Given the description of an element on the screen output the (x, y) to click on. 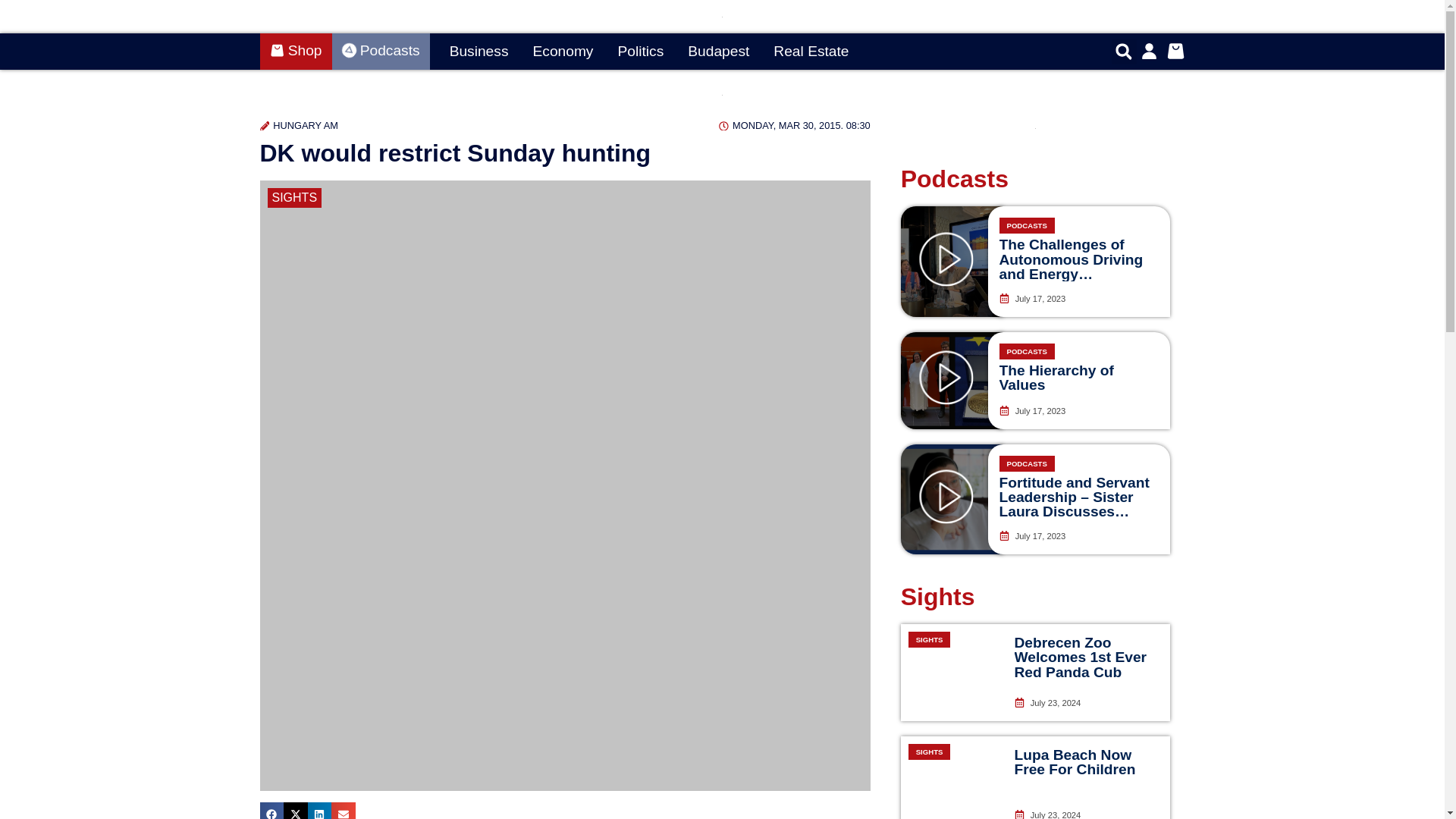
HUNGARY AM (298, 124)
Real Estate (810, 51)
Debrecen Zoo Welcomes 1st Ever Red Panda Cub (1080, 656)
Economy (562, 51)
SIGHTS (952, 672)
Politics (640, 51)
Podcasts (380, 51)
Sights (938, 596)
Shop (295, 51)
MONDAY, MAR 30, 2015. 08:30 (794, 124)
Budapest (718, 51)
SIGHTS (952, 777)
Business (478, 51)
SIGHTS (293, 198)
